Given the description of an element on the screen output the (x, y) to click on. 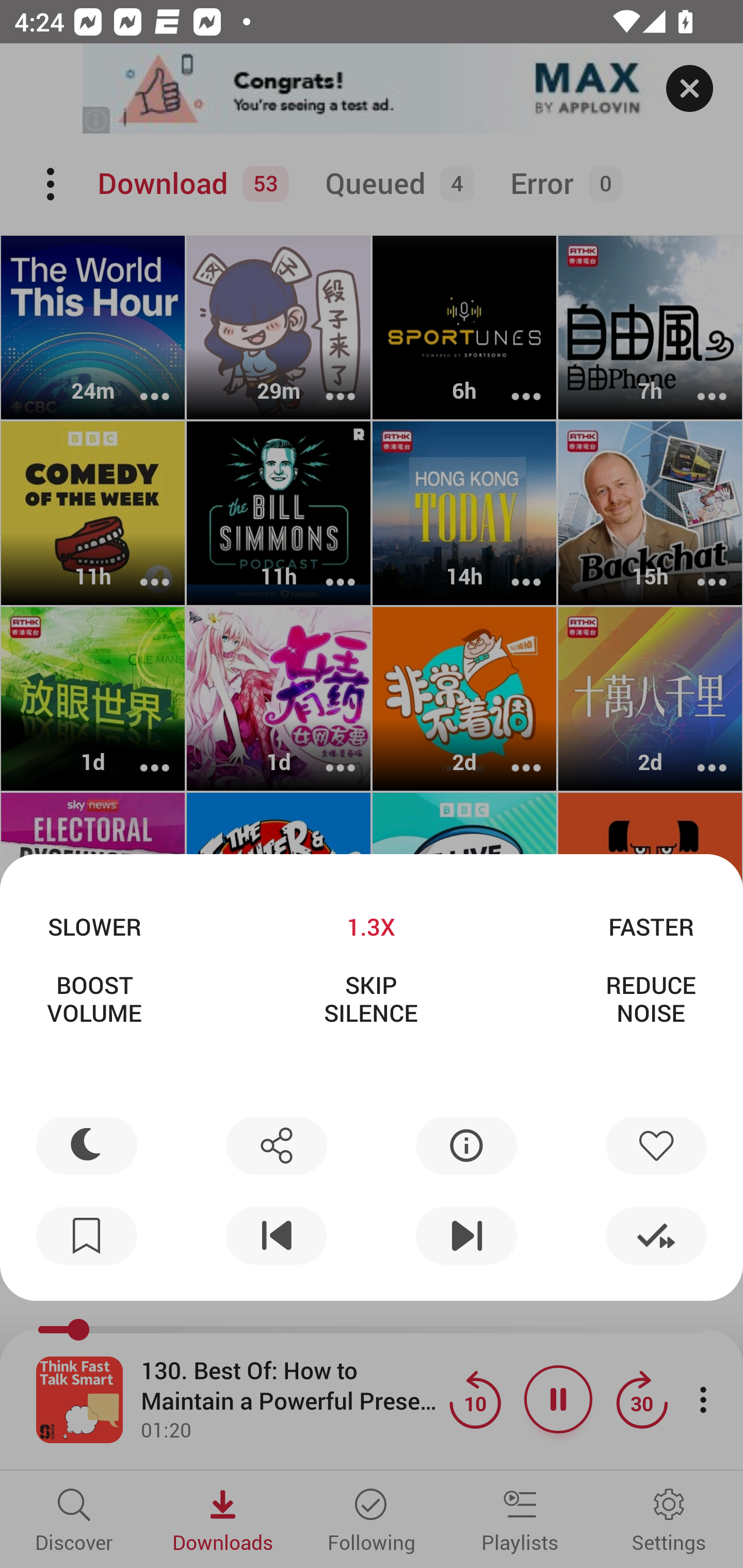
SLOWER (94, 926)
1.3X (370, 926)
FASTER (650, 926)
BOOST
VOLUME (94, 998)
SKIP
SILENCE (370, 998)
REDUCE
NOISE (650, 998)
Sleep timer (86, 1145)
Share (275, 1145)
Info (466, 1145)
Like (655, 1145)
New bookmark … (86, 1236)
Previous (275, 1236)
Next (466, 1236)
Mark played and next (655, 1236)
